Given the description of an element on the screen output the (x, y) to click on. 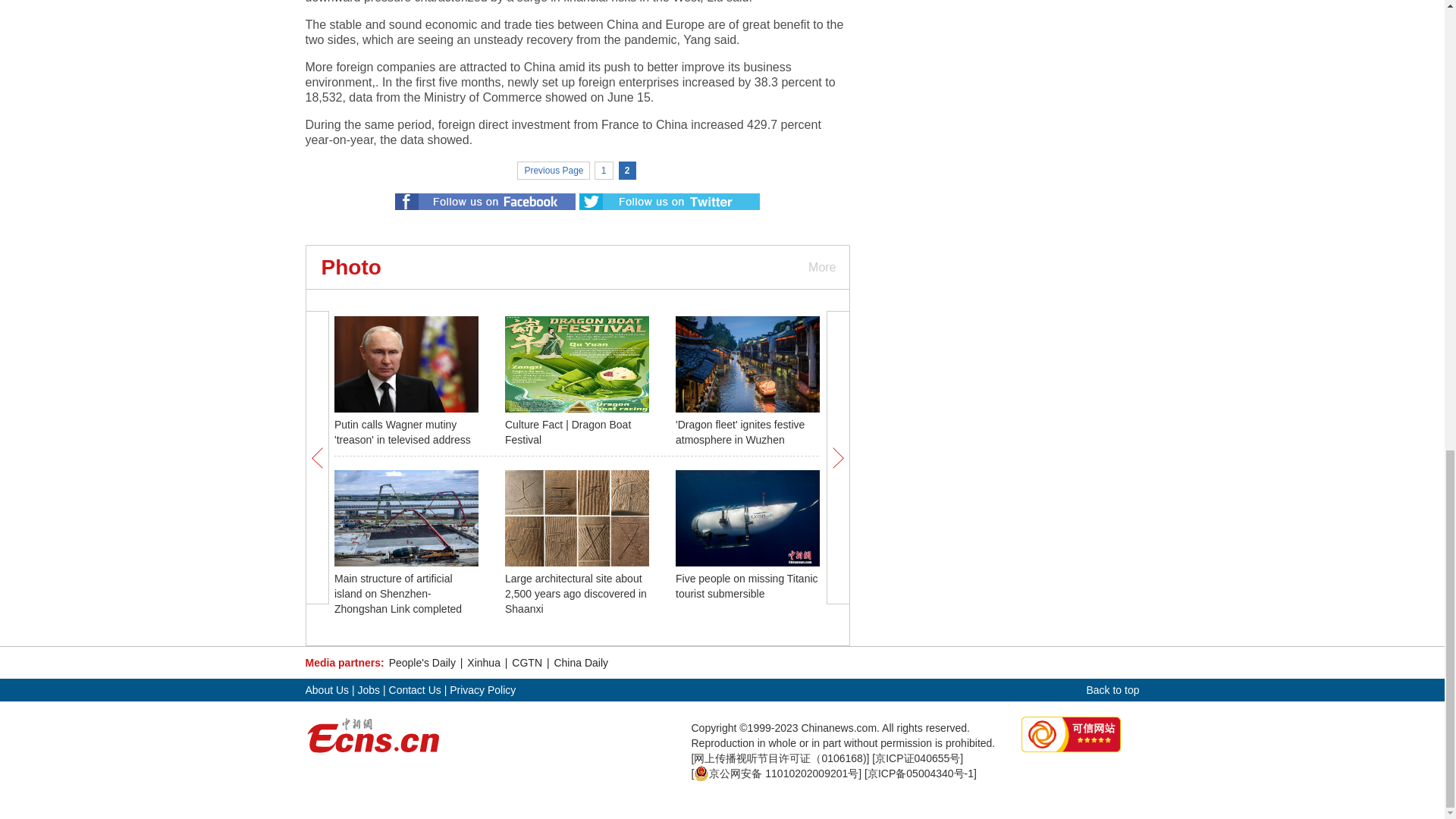
More (820, 267)
Putin calls Wagner mutiny 'treason' in televised address (402, 431)
Previous Page (552, 170)
Five people on missing Titanic tourist submersible (746, 585)
1 (603, 170)
'Dragon fleet' ignites festive atmosphere in Wuzhen (740, 431)
